Given the description of an element on the screen output the (x, y) to click on. 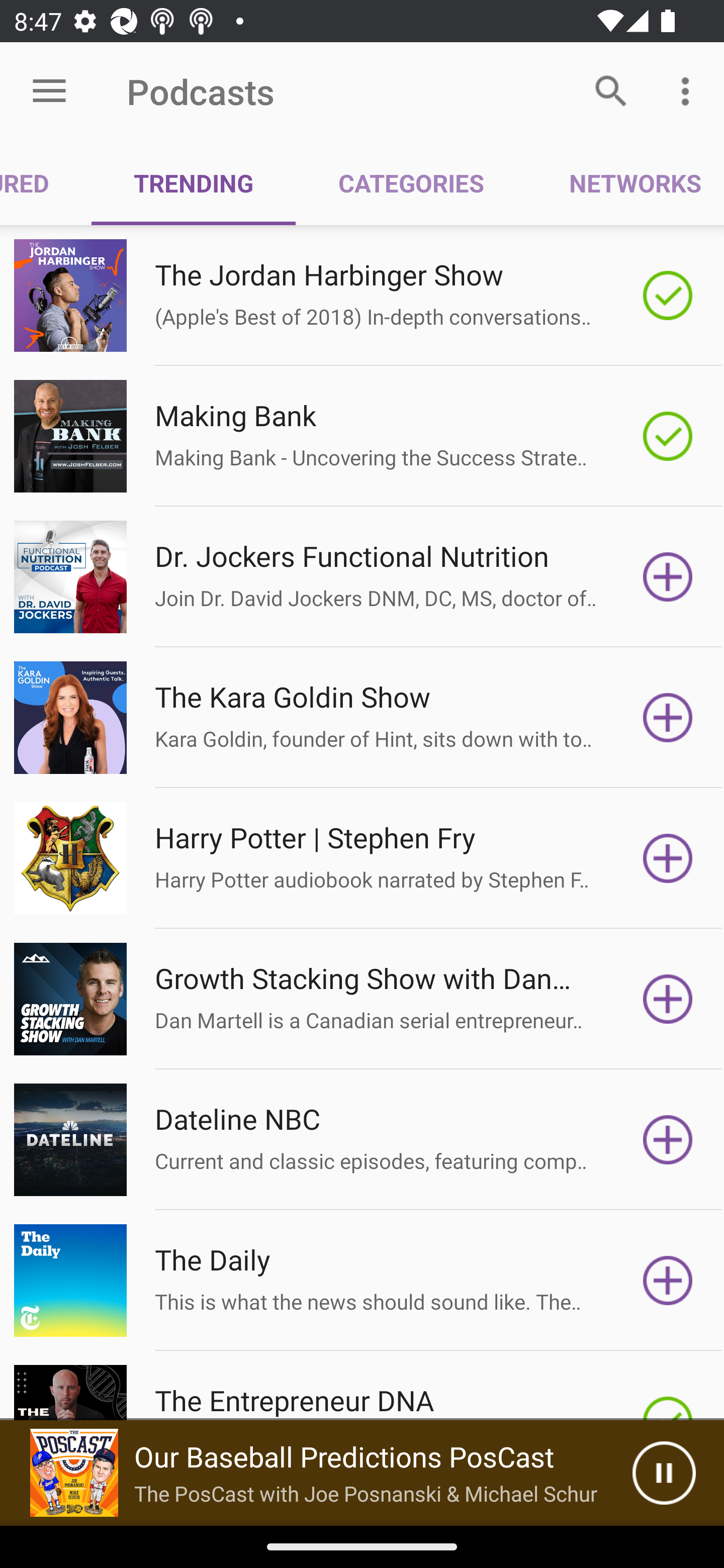
Open menu (49, 91)
Search (611, 90)
More options (688, 90)
TRENDING (193, 183)
CATEGORIES (410, 183)
NETWORKS (625, 183)
Subscribed (667, 295)
Subscribed (667, 435)
Subscribe (667, 576)
Subscribe (667, 717)
Subscribe (667, 858)
Subscribe (667, 998)
Subscribe (667, 1139)
Subscribe (667, 1280)
Pause (663, 1472)
